Given the description of an element on the screen output the (x, y) to click on. 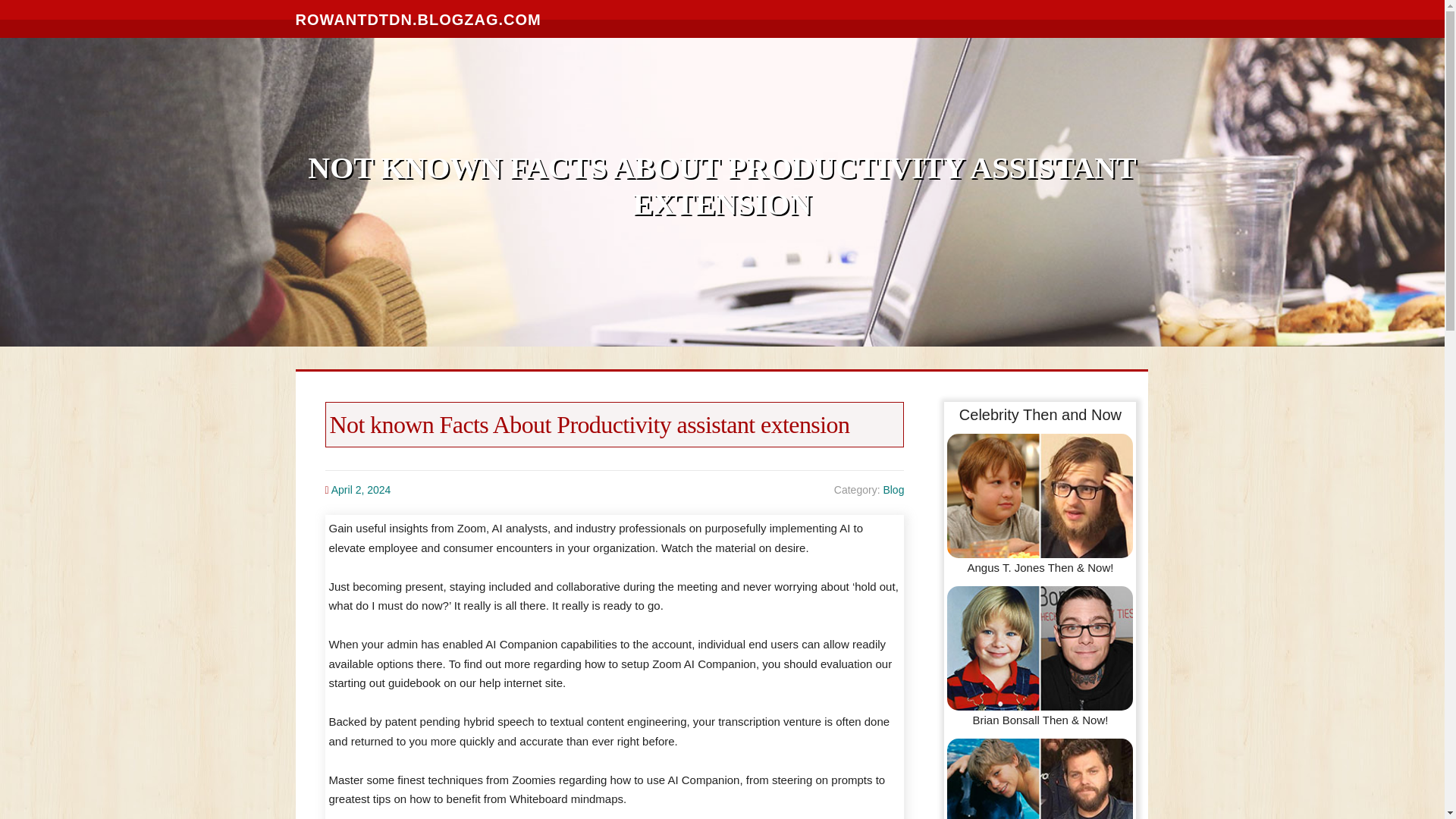
ROWANTDTDN.BLOGZAG.COM (418, 18)
Skip to content (37, 9)
Blog (893, 490)
April 2, 2024 (361, 490)
